Given the description of an element on the screen output the (x, y) to click on. 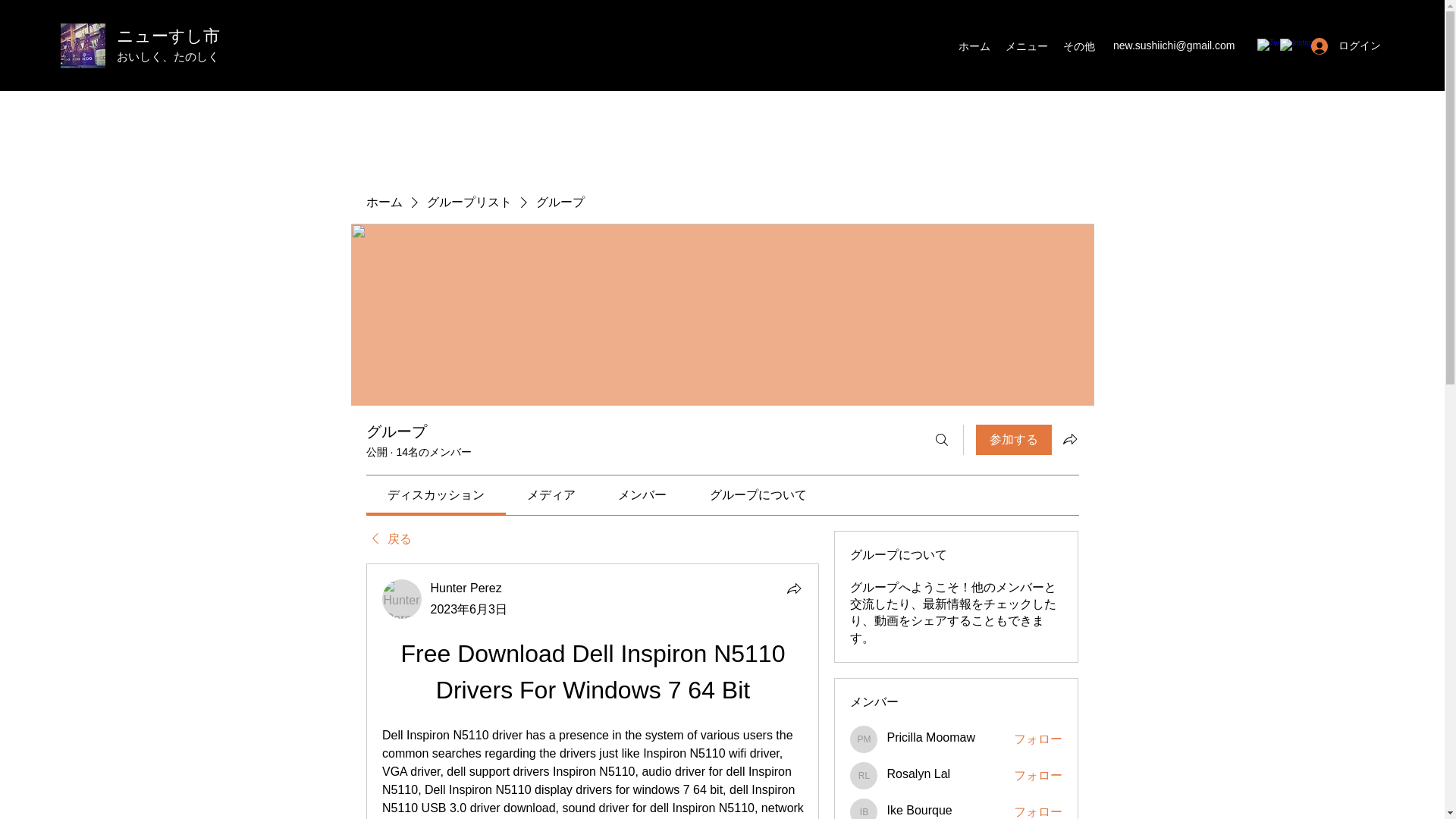
Rosalyn Lal (918, 773)
Ike Bourque (863, 808)
Rosalyn Lal (918, 773)
Rosalyn Lal (863, 775)
Pricilla Moomaw (930, 737)
Hunter Perez (401, 599)
Ike Bourque (919, 810)
Pricilla Moomaw (863, 738)
Ike Bourque (919, 810)
Pricilla Moomaw (930, 737)
